Given the description of an element on the screen output the (x, y) to click on. 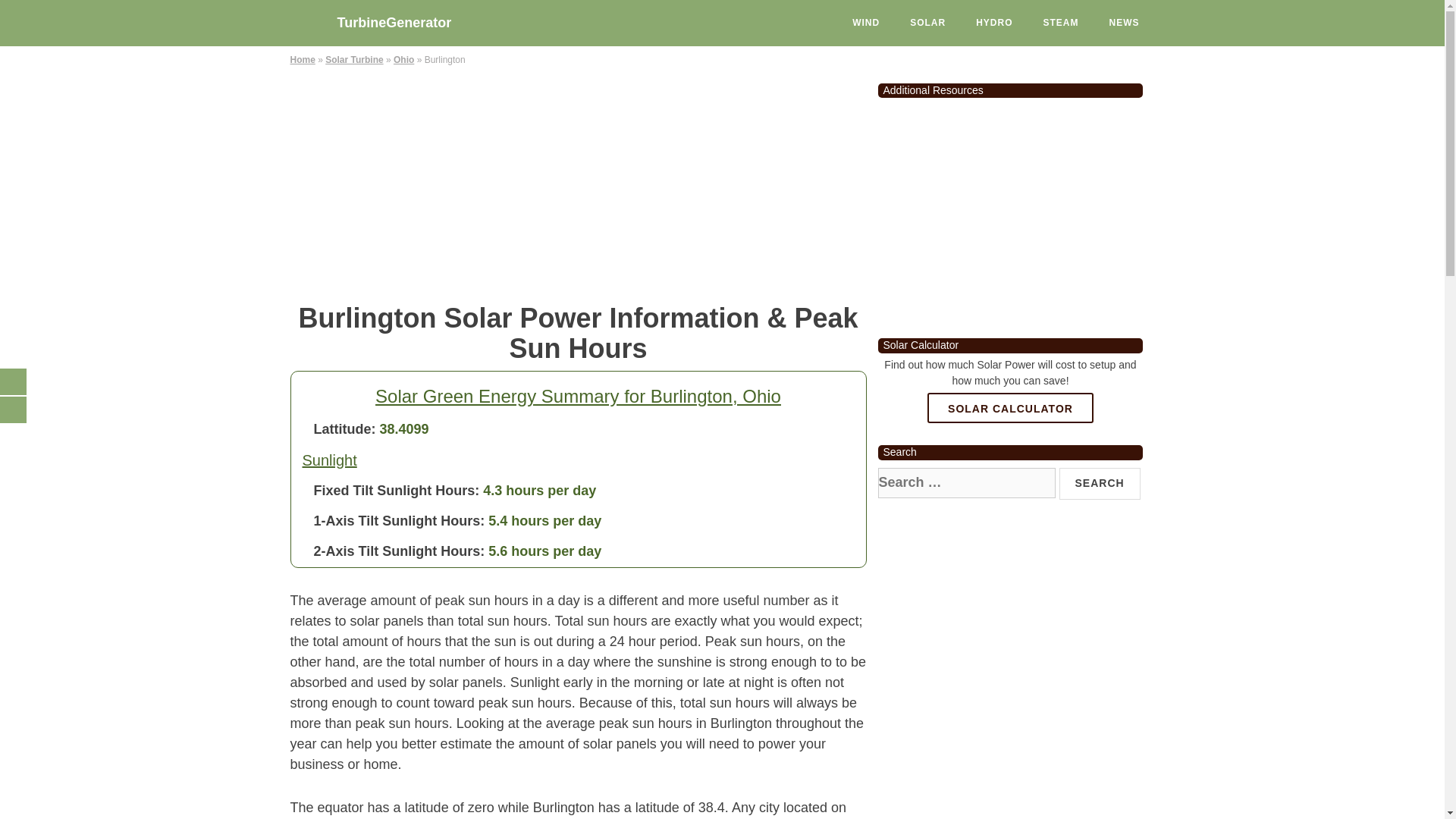
WIND (866, 22)
Solar Turbine (353, 59)
2-Axis Tilt Sunlight Hours: (399, 550)
TurbineGenerator (402, 18)
HYDRO (993, 22)
Advertisement (1009, 211)
Home (301, 59)
Advertisement (577, 182)
Search (1099, 483)
Fixed Tilt Sunlight Hours: (397, 490)
